Given the description of an element on the screen output the (x, y) to click on. 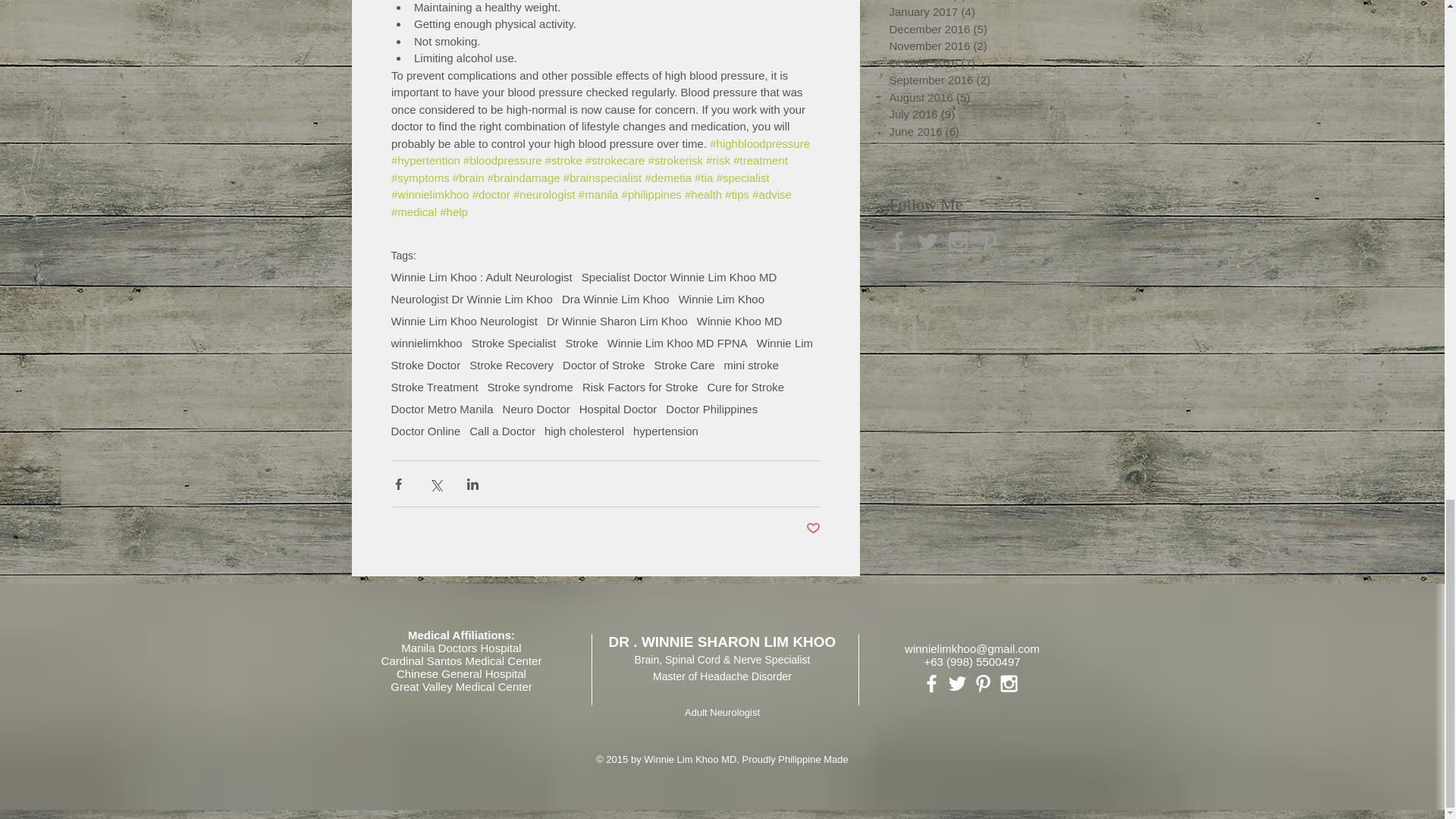
Winnie Lim Khoo (721, 298)
Winnie Lim Khoo : Adult Neurologist (481, 277)
Neurologist Dr Winnie Lim Khoo (472, 298)
Dra Winnie Lim Khoo (615, 298)
Specialist Doctor Winnie Lim Khoo MD (678, 277)
